Given the description of an element on the screen output the (x, y) to click on. 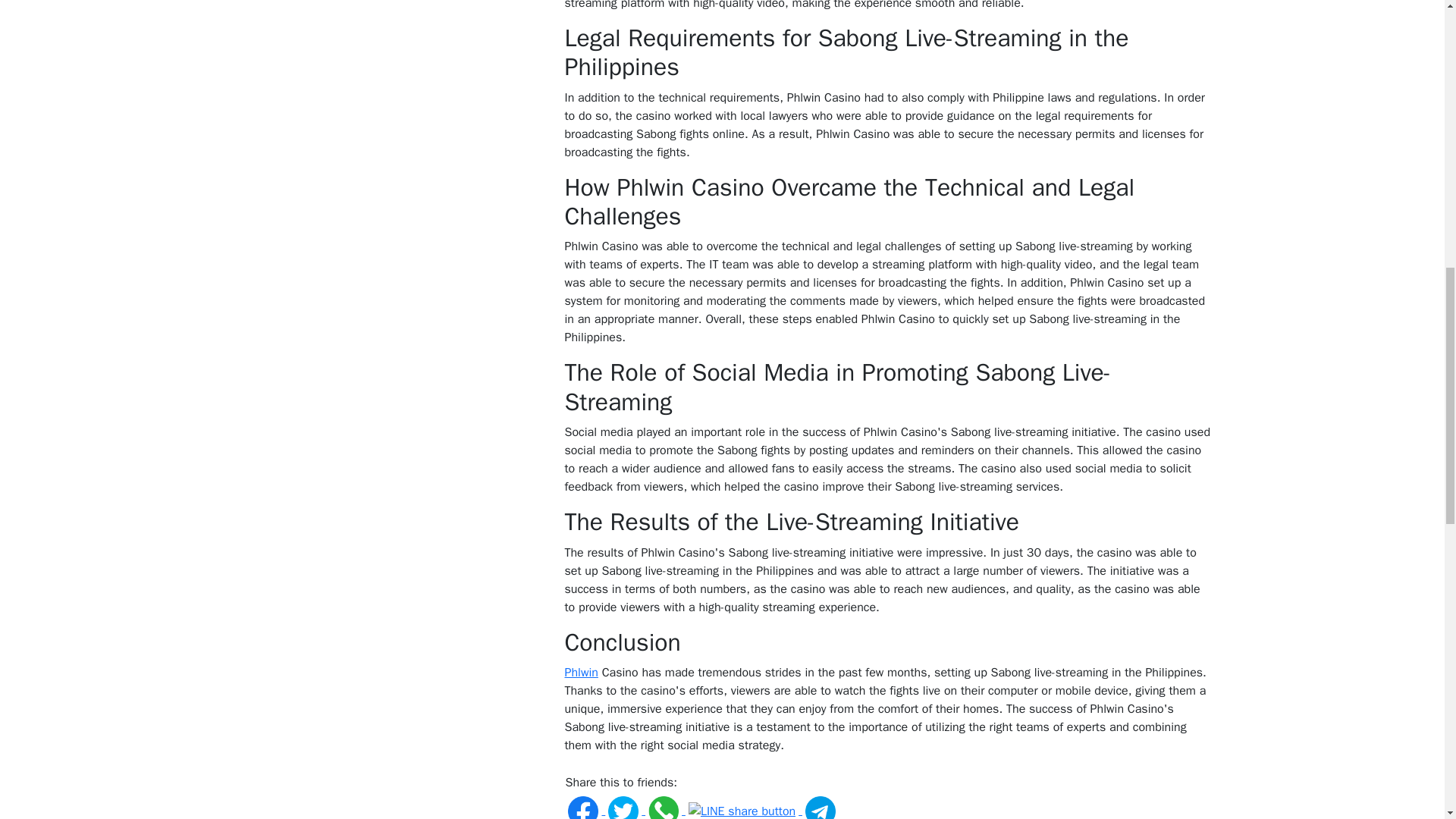
Phlwin (580, 672)
